Given the description of an element on the screen output the (x, y) to click on. 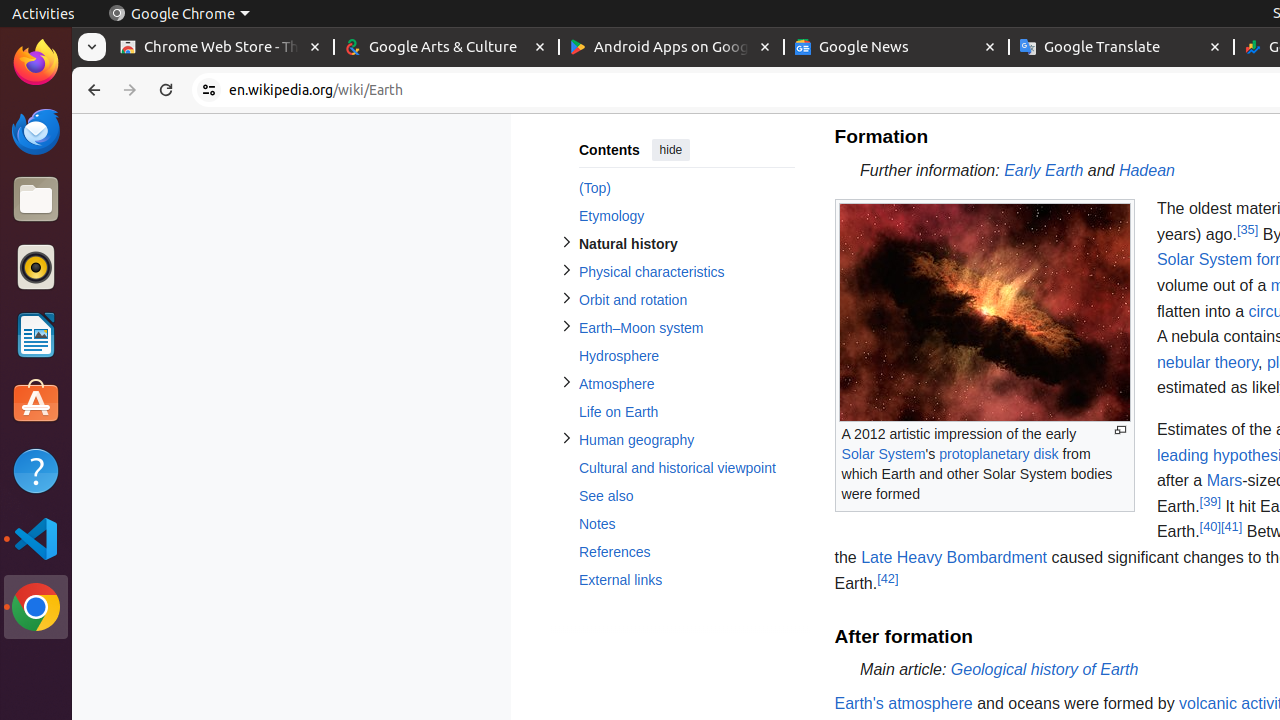
hide Element type: push-button (670, 150)
Toggle Human geography subsection Element type: push-button (566, 438)
Earth–Moon system Element type: link (686, 328)
[42] Element type: link (888, 578)
Hydrosphere Element type: link (686, 356)
